Given the description of an element on the screen output the (x, y) to click on. 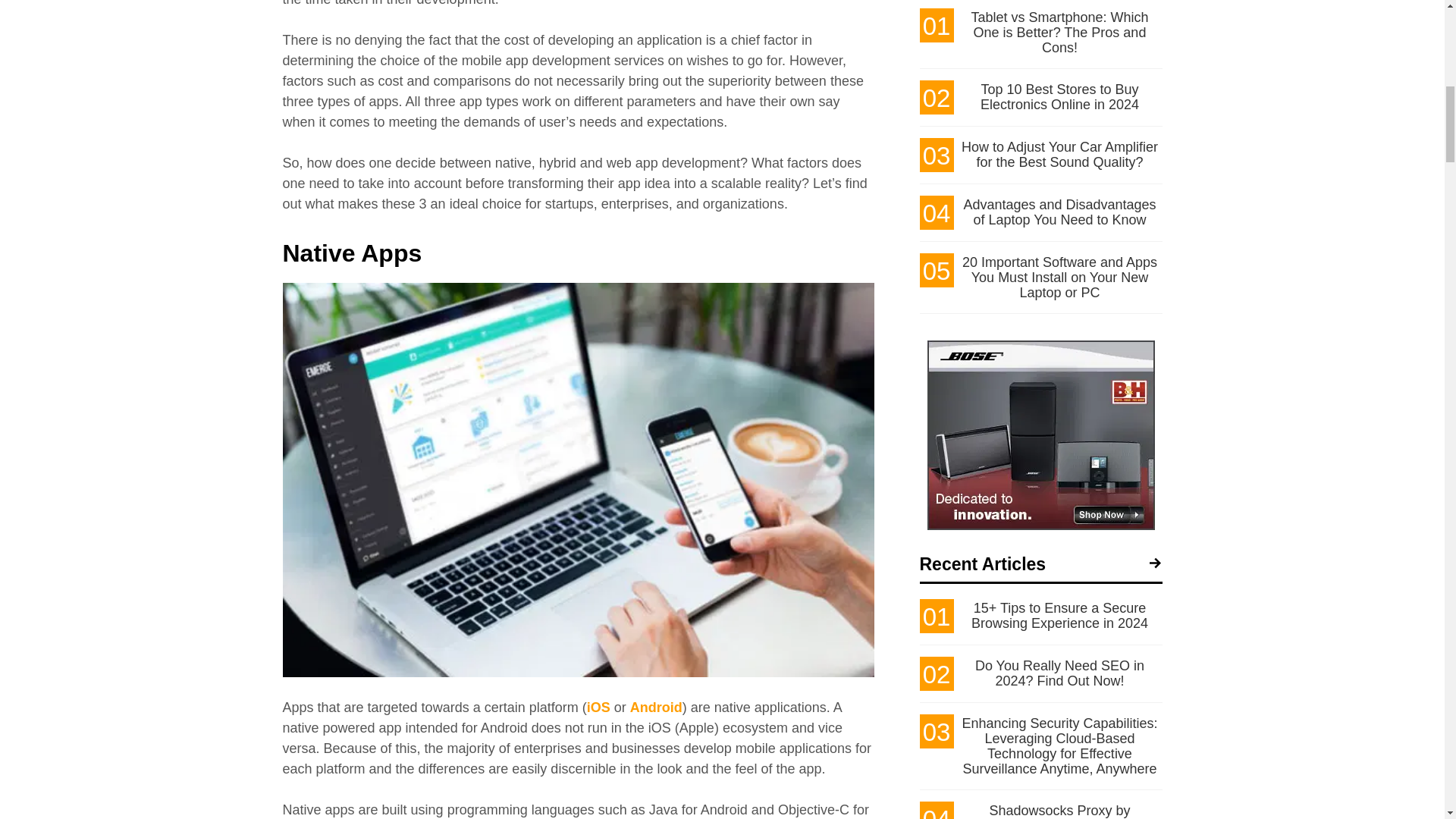
Android (656, 707)
iOS (598, 707)
